Given the description of an element on the screen output the (x, y) to click on. 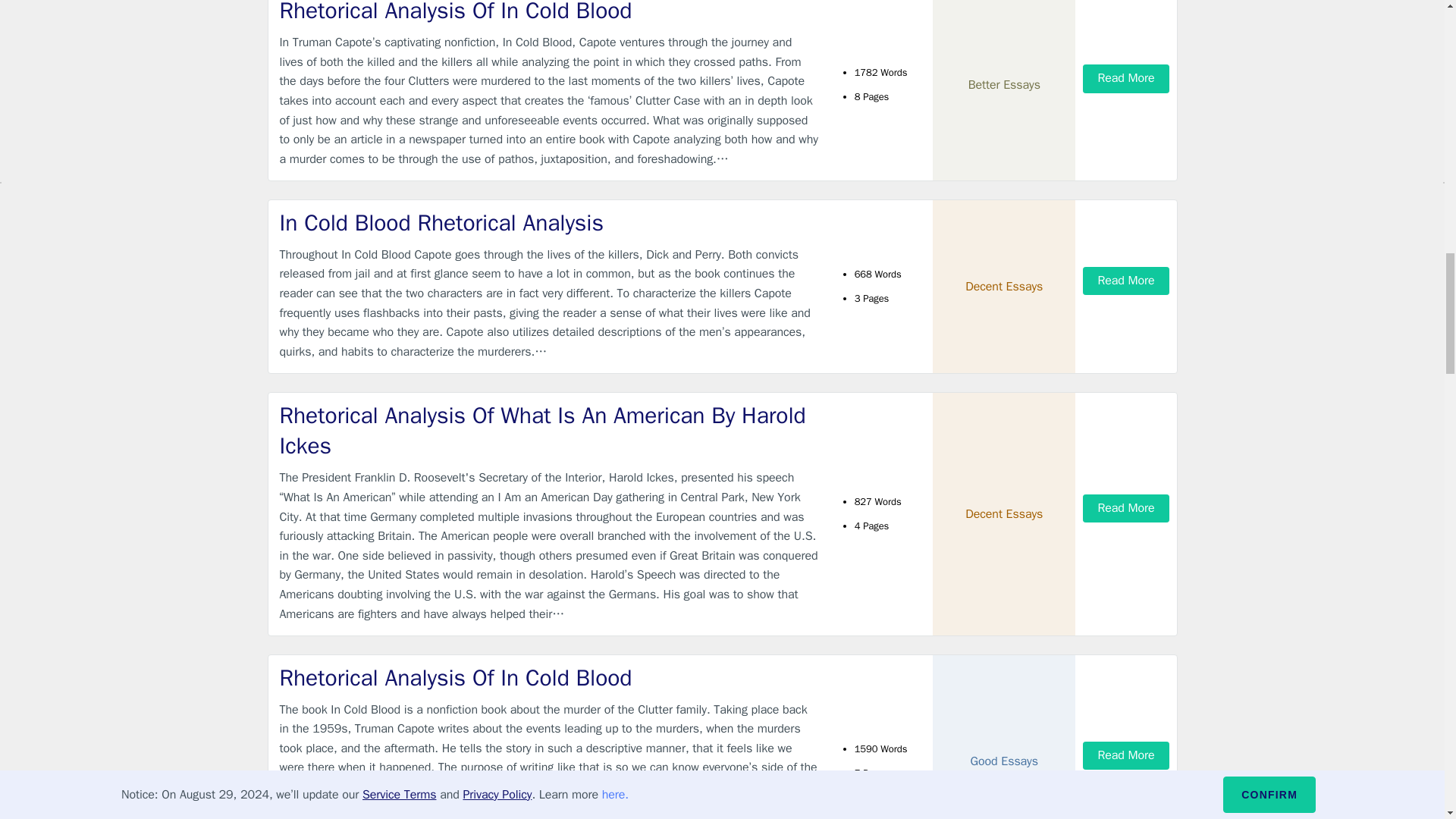
Read More (1126, 508)
Read More (1126, 78)
Read More (1126, 280)
In Cold Blood Rhetorical Analysis (548, 223)
Read More (1126, 755)
Rhetorical Analysis Of What Is An American By Harold Ickes (548, 430)
Rhetorical Analysis Of In Cold Blood (548, 677)
Rhetorical Analysis Of In Cold Blood (548, 13)
